Given the description of an element on the screen output the (x, y) to click on. 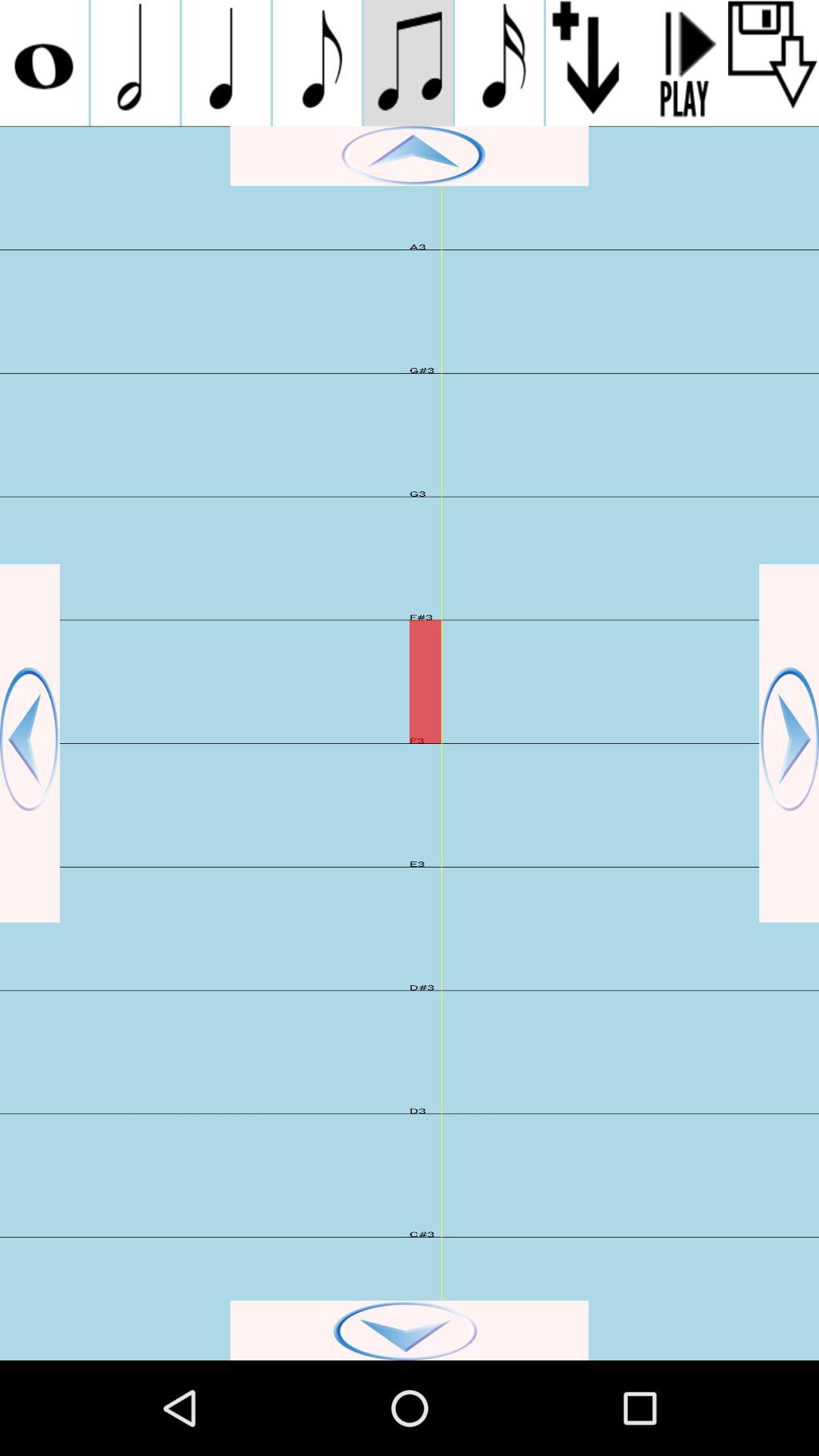
select the right slide option (789, 742)
